Given the description of an element on the screen output the (x, y) to click on. 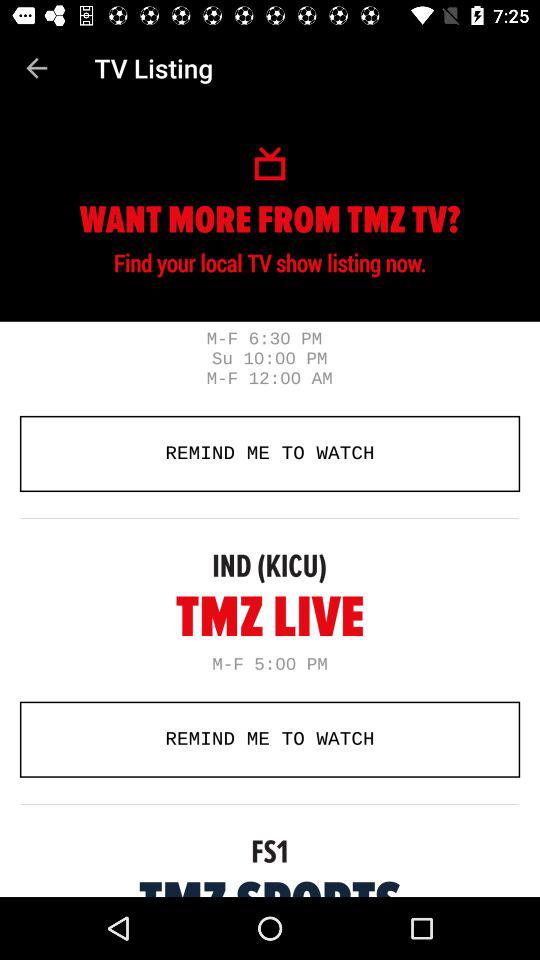
tap the item to the left of the tv listing icon (36, 68)
